Given the description of an element on the screen output the (x, y) to click on. 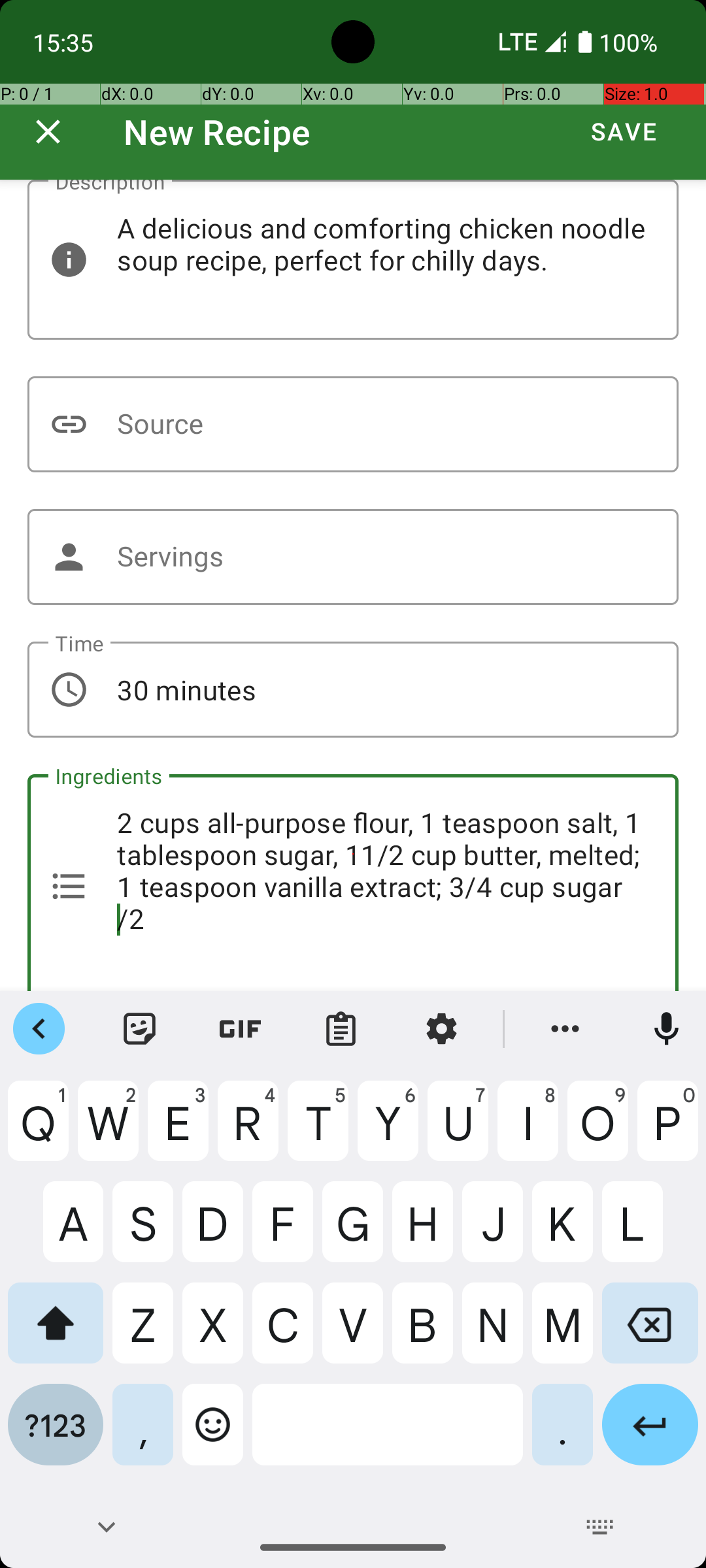
A delicious and comforting chicken noodle soup recipe, perfect for chilly days.
 Element type: android.widget.EditText (352, 259)
30 minutes Element type: android.widget.EditText (352, 689)
2 cups all-purpose flour, 1 teaspoon salt, 1 tablespoon sugar, 11/2 cup butter, melted; 1 teaspoon vanilla extract; 3/4 cup sugar
/2
 Element type: android.widget.EditText (352, 882)
